Given the description of an element on the screen output the (x, y) to click on. 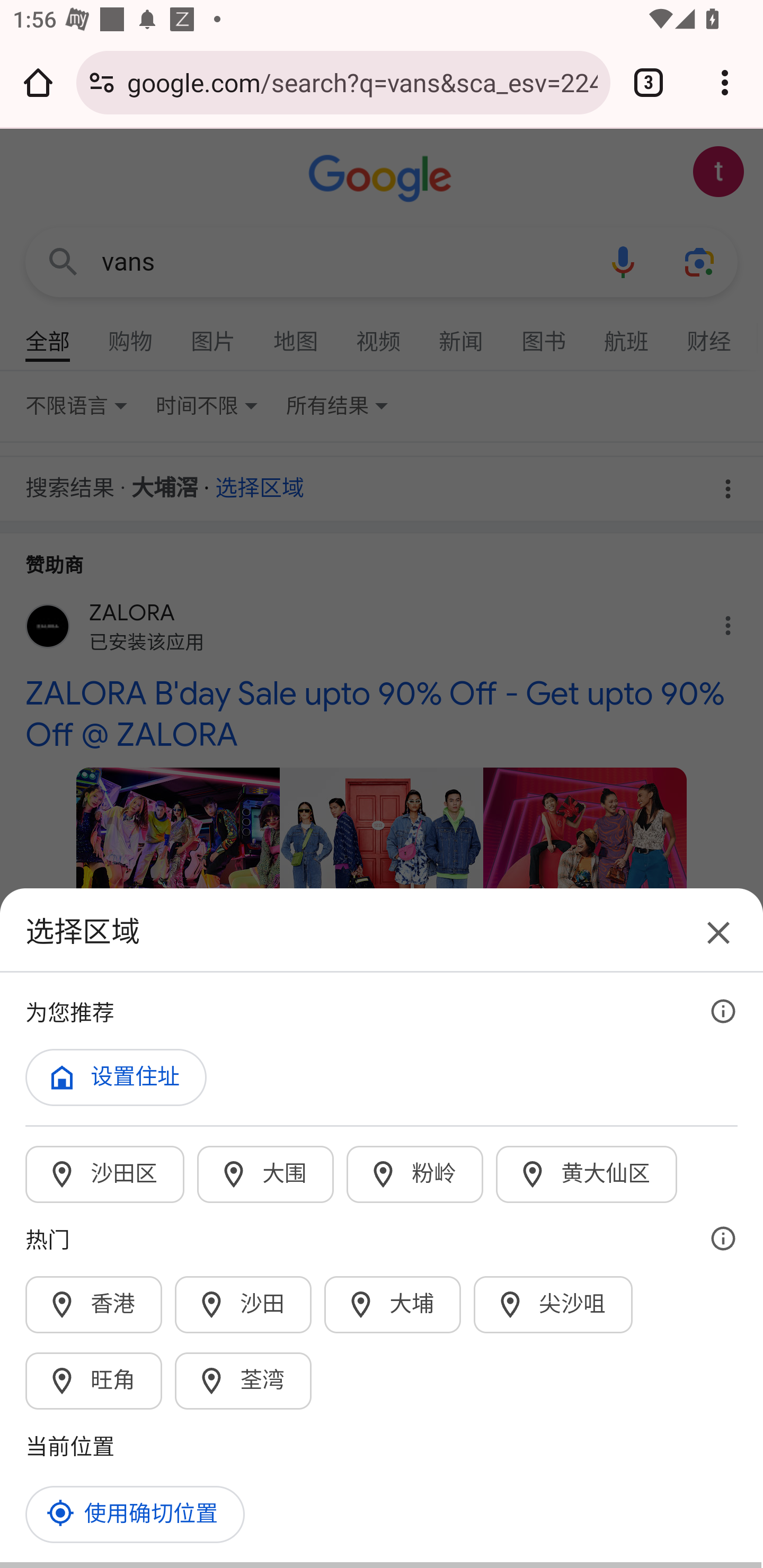
Open the home page (38, 82)
Connection is secure (101, 82)
Switch or close tabs (648, 82)
Customize and control Google Chrome (724, 82)
关闭 (718, 932)
关于系统根据您的活动建议的区域 (723, 1011)
 设定住址；在 Google 账号设置中设定您的住址  (116, 1076)
 沙田区  (105, 1174)
 大围  (265, 1174)
 粉岭  (415, 1174)
 黄大仙区  (587, 1174)
关于热门区域 (723, 1238)
 香港  (94, 1304)
 沙田  (243, 1304)
 大埔  (393, 1304)
 尖沙咀  (553, 1304)
 旺角  (94, 1380)
 荃湾  (243, 1380)
使用确切位置 (135, 1514)
